Given the description of an element on the screen output the (x, y) to click on. 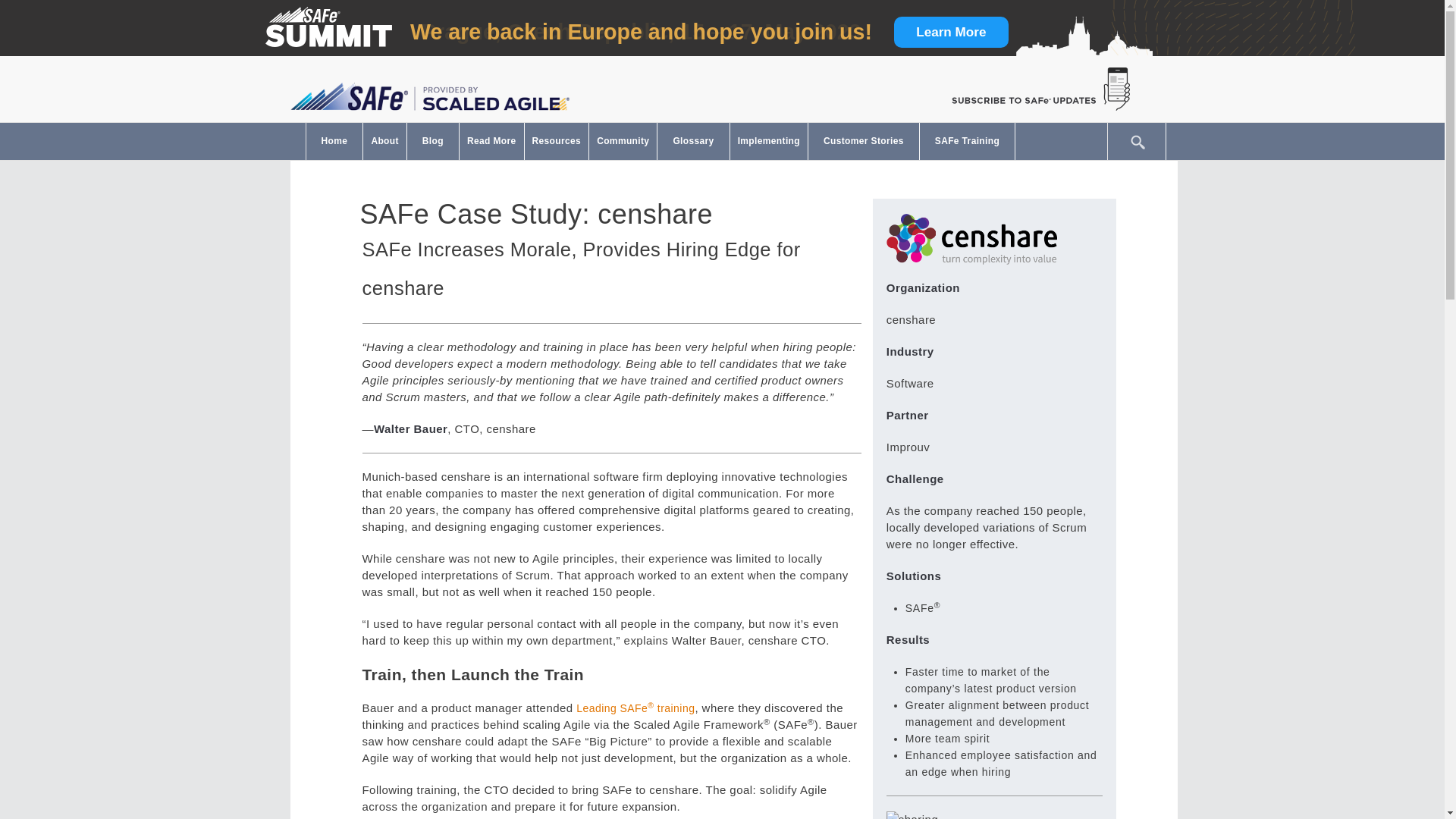
Customer Stories (863, 140)
Implementing (769, 140)
Resources (556, 140)
SAFe Training (967, 140)
Community (622, 140)
Glossary (693, 140)
About (384, 140)
Home (333, 140)
Blog (432, 140)
Read More (492, 140)
